Given the description of an element on the screen output the (x, y) to click on. 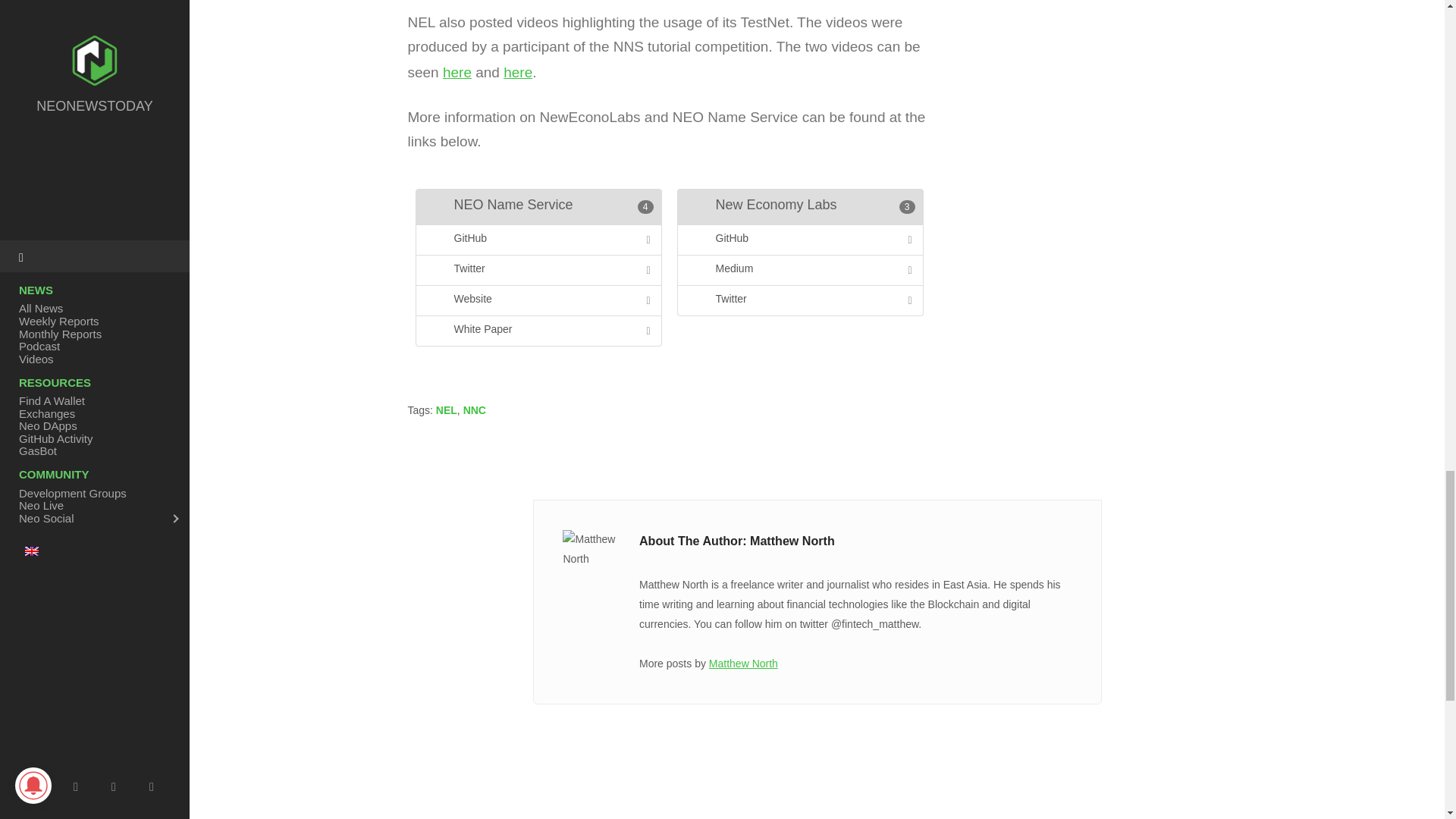
Medium (800, 269)
here (517, 72)
Website (538, 300)
NEL (446, 410)
Posts by Matthew North (743, 663)
White Paper (538, 330)
here (456, 72)
GitHub (800, 239)
Twitter (800, 300)
Twitter (538, 269)
